Given the description of an element on the screen output the (x, y) to click on. 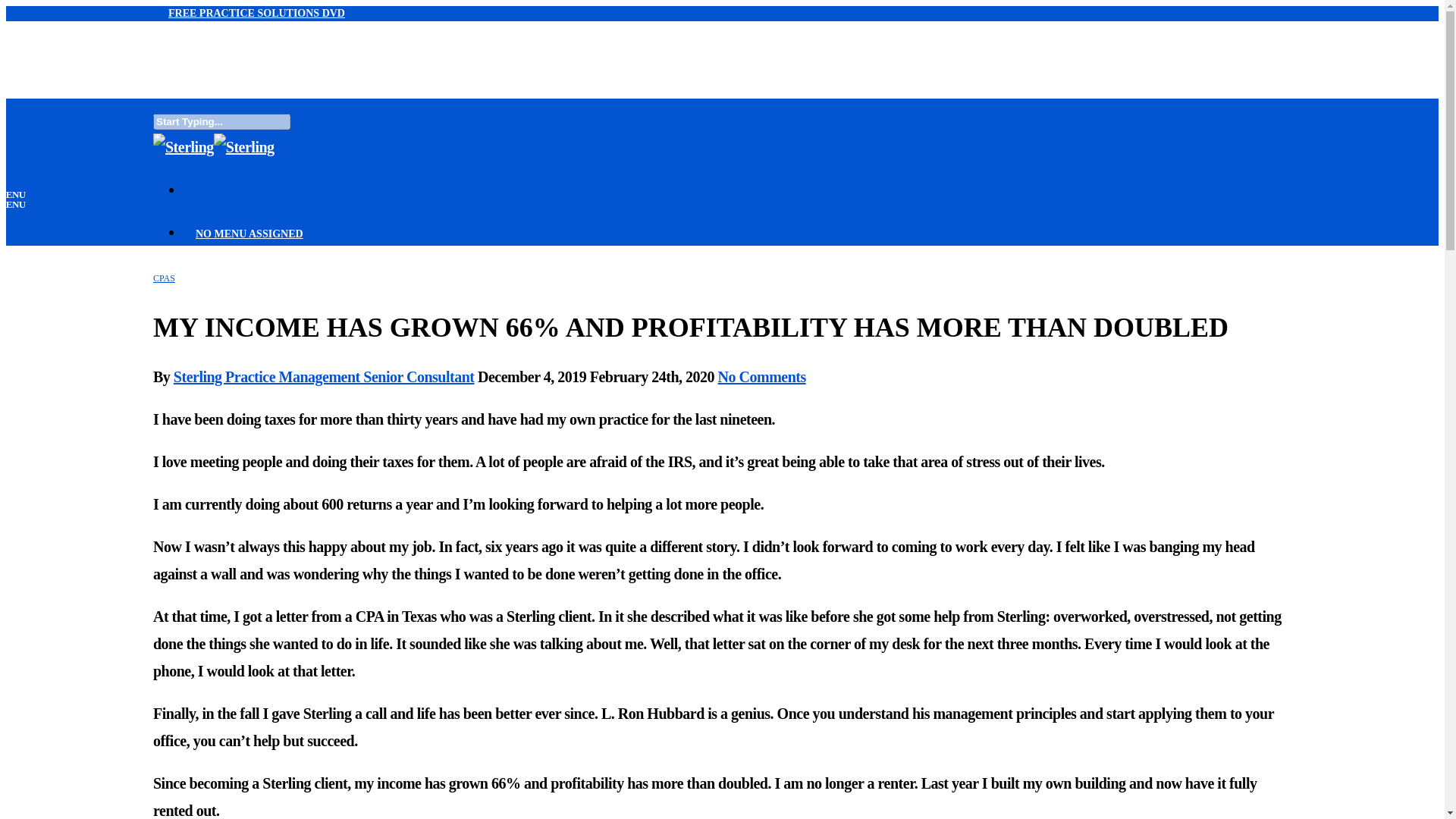
Start Typing... (220, 121)
CPAS (163, 277)
Posts by Sterling Practice Management Senior Consultant (323, 376)
NO MENU ASSIGNED (248, 237)
FREE PRACTICE SOLUTIONS DVD (255, 12)
No Comments (761, 376)
Sterling Practice Management Senior Consultant (323, 376)
